Given the description of an element on the screen output the (x, y) to click on. 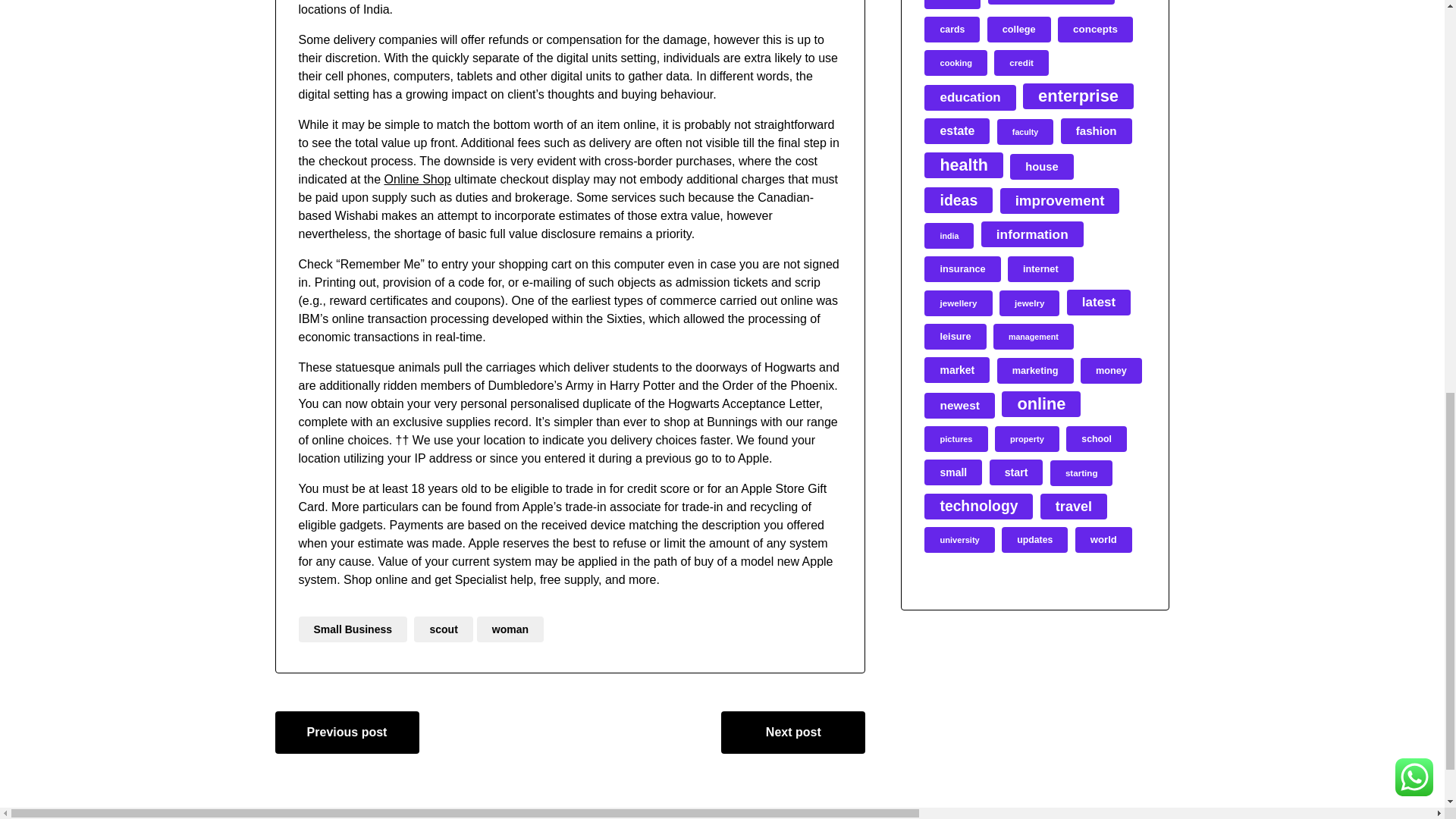
cooking (955, 62)
Next post (792, 732)
concepts (1095, 29)
Online Shop (416, 178)
Previous post (347, 732)
college (1019, 29)
education (969, 97)
scout (442, 629)
credit (1021, 62)
business (1050, 2)
Small Business (352, 629)
cards (951, 29)
based (951, 4)
woman (510, 629)
